Given the description of an element on the screen output the (x, y) to click on. 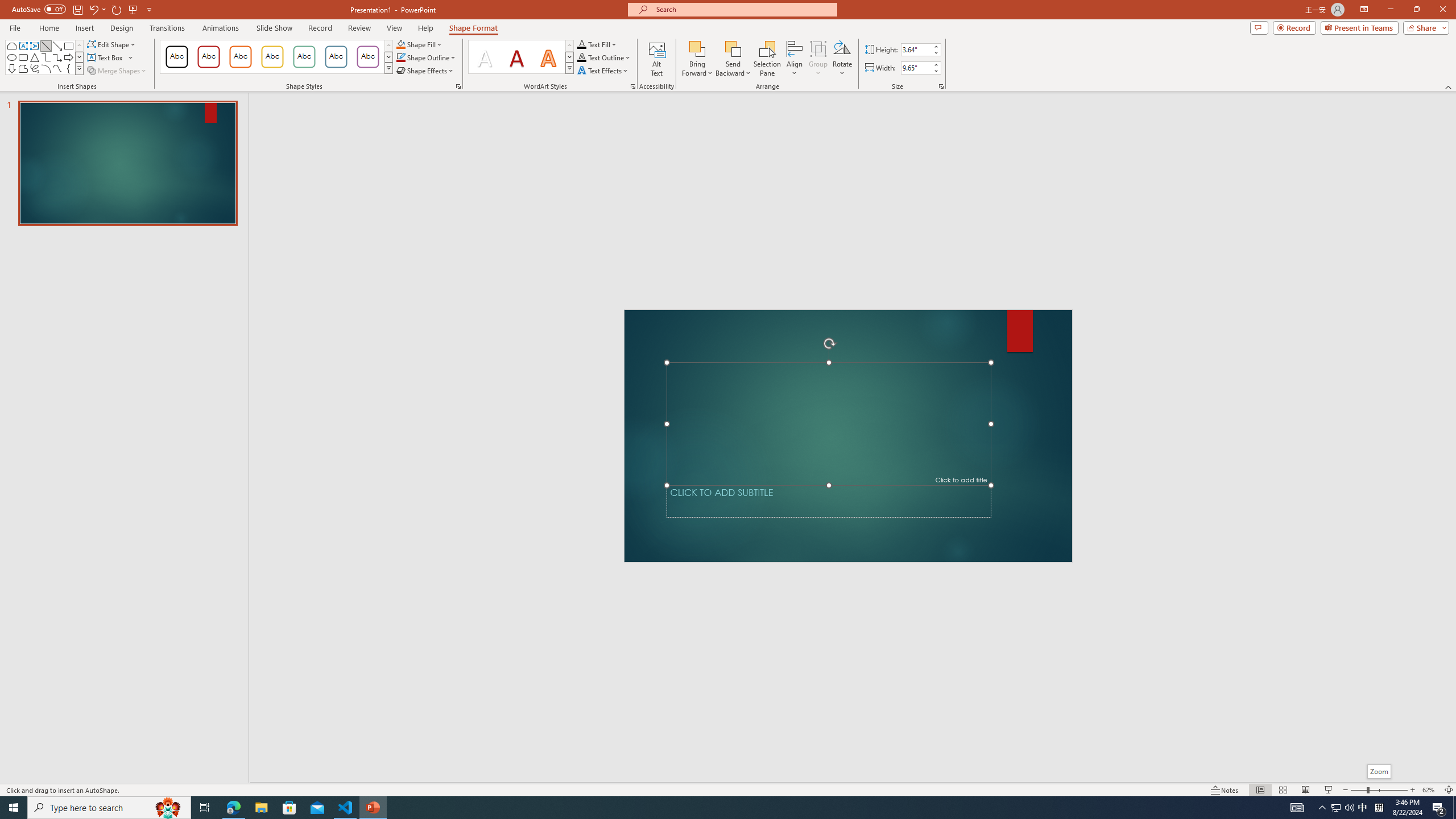
Shape Format (473, 28)
Arrow: Down (11, 68)
Row Down (568, 56)
Text Outline (604, 56)
Shape Outline Blue, Accent 1 (400, 56)
Fill: Dark Red, Accent color 1; Shadow (516, 56)
Arc (46, 68)
Isosceles Triangle (34, 57)
Line (46, 45)
